Given the description of an element on the screen output the (x, y) to click on. 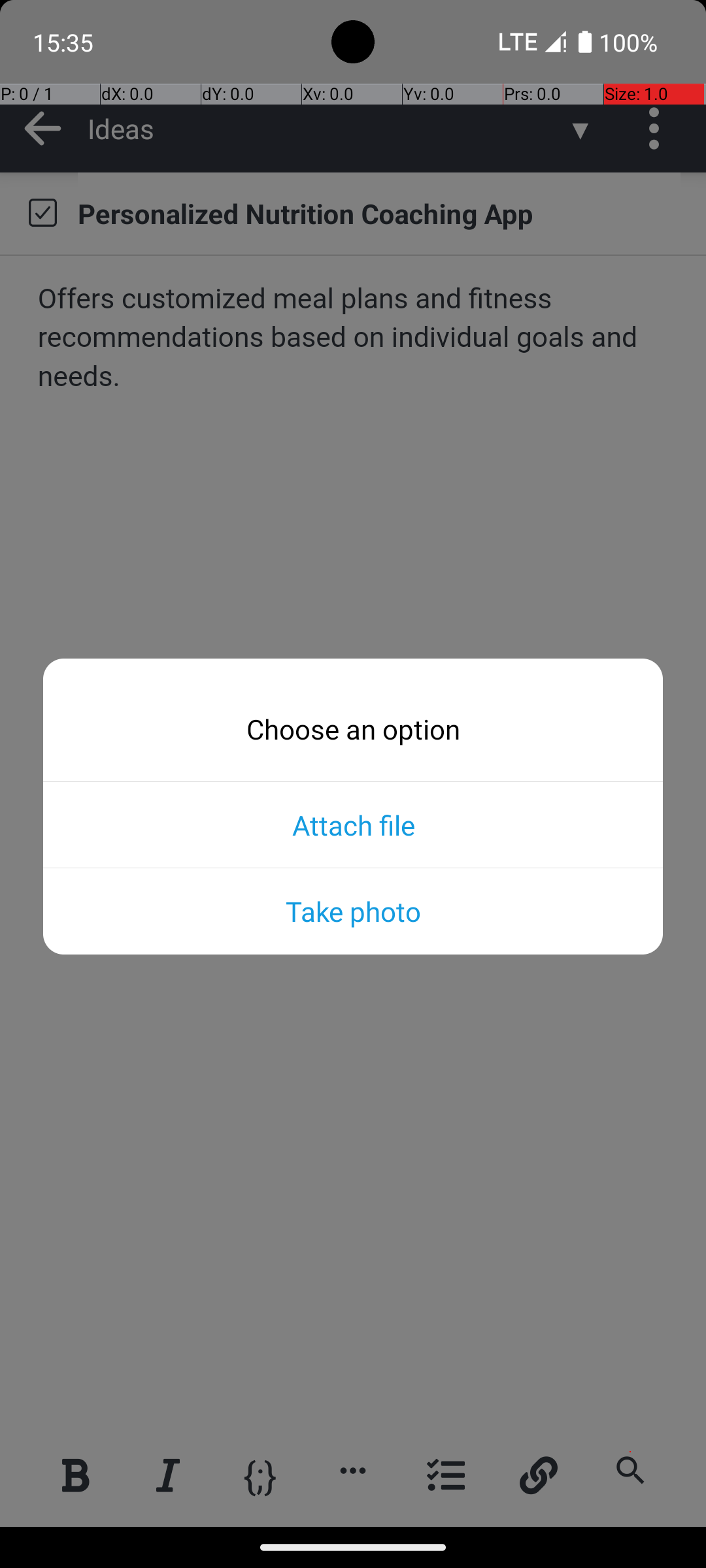
Choose an option Element type: android.widget.TextView (353, 728)
Personalized Nutrition Coaching App Element type: android.widget.EditText (378, 213)
Attach file Element type: android.widget.TextView (352, 824)
Take photo Element type: android.widget.TextView (352, 910)
Offers customized meal plans and fitness recommendations based on individual goals and needs. Element type: android.widget.EditText (354, 338)
